Given the description of an element on the screen output the (x, y) to click on. 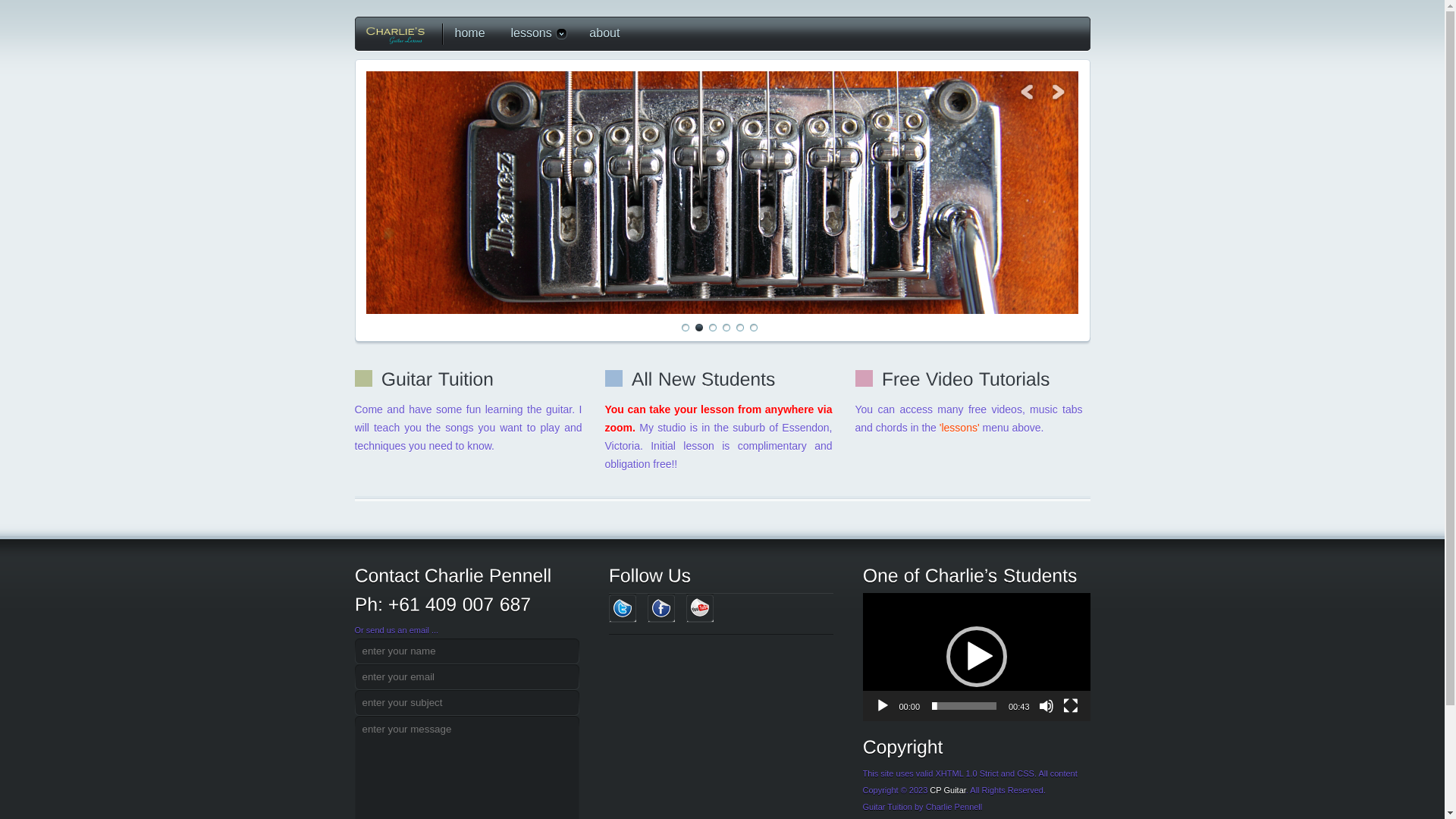
Facebook Element type: text (660, 607)
4 Element type: text (725, 327)
about Element type: text (600, 33)
1 Element type: text (684, 327)
home Element type: text (465, 33)
2 Element type: text (698, 327)
Hello world! Element type: hover (721, 192)
'lessons' Element type: text (960, 427)
Fullscreen Element type: hover (1070, 705)
5 Element type: text (739, 327)
Twitter Element type: text (621, 607)
Mute Element type: hover (1046, 705)
3 Element type: text (711, 327)
Play Element type: hover (882, 705)
CP Guitar Element type: text (947, 789)
6 Element type: text (752, 327)
YouTube Element type: text (698, 607)
